Given the description of an element on the screen output the (x, y) to click on. 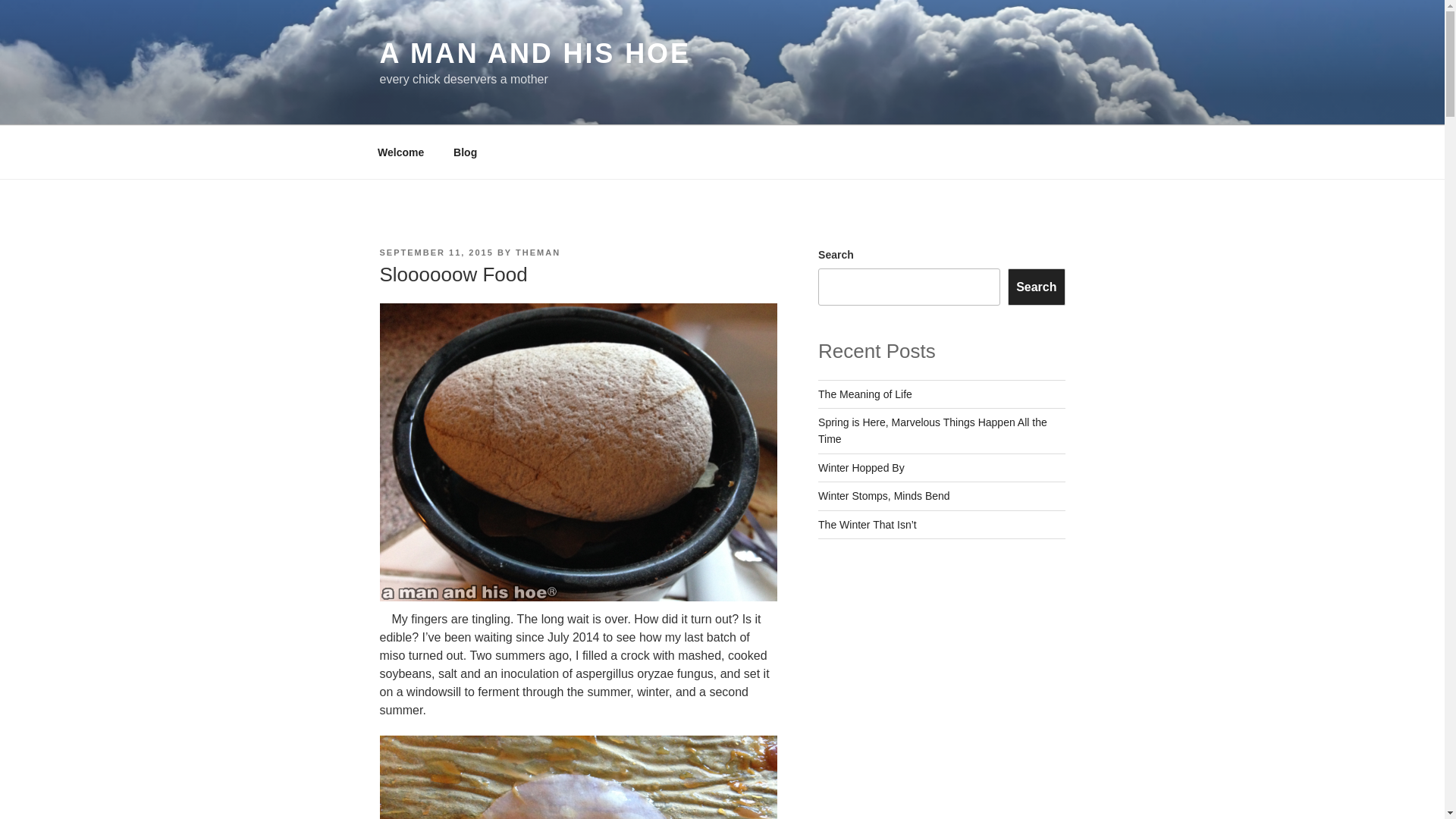
Winter Stomps, Minds Bend (884, 495)
The Meaning of Life (865, 394)
SEPTEMBER 11, 2015 (435, 252)
Welcome (400, 151)
THEMAN (537, 252)
Spring is Here, Marvelous Things Happen All the Time (932, 430)
Blog (465, 151)
Winter Hopped By (861, 467)
Search (1035, 286)
A MAN AND HIS HOE (534, 52)
